Given the description of an element on the screen output the (x, y) to click on. 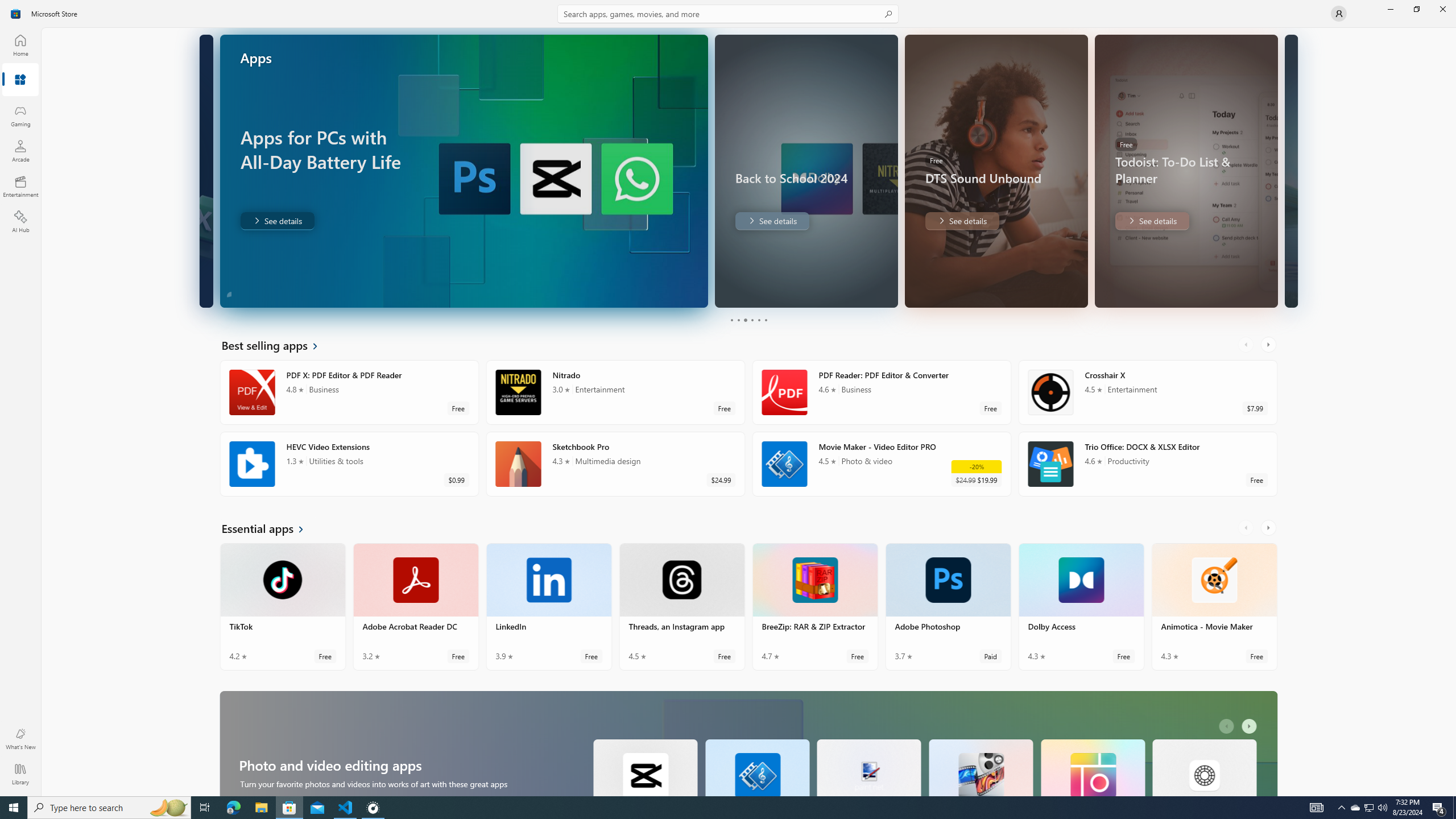
CapCut. Average rating of 4.7 out of five stars. Free   (644, 767)
Entertainment (20, 185)
AutomationID: NavigationControl (728, 398)
TikTok. Average rating of 4.2 out of five stars. Free   (282, 606)
Class: Image (15, 13)
Apps for PCs with All-Day Battery Life. .  . See details (277, 221)
What's New (20, 738)
Library (20, 773)
